Given the description of an element on the screen output the (x, y) to click on. 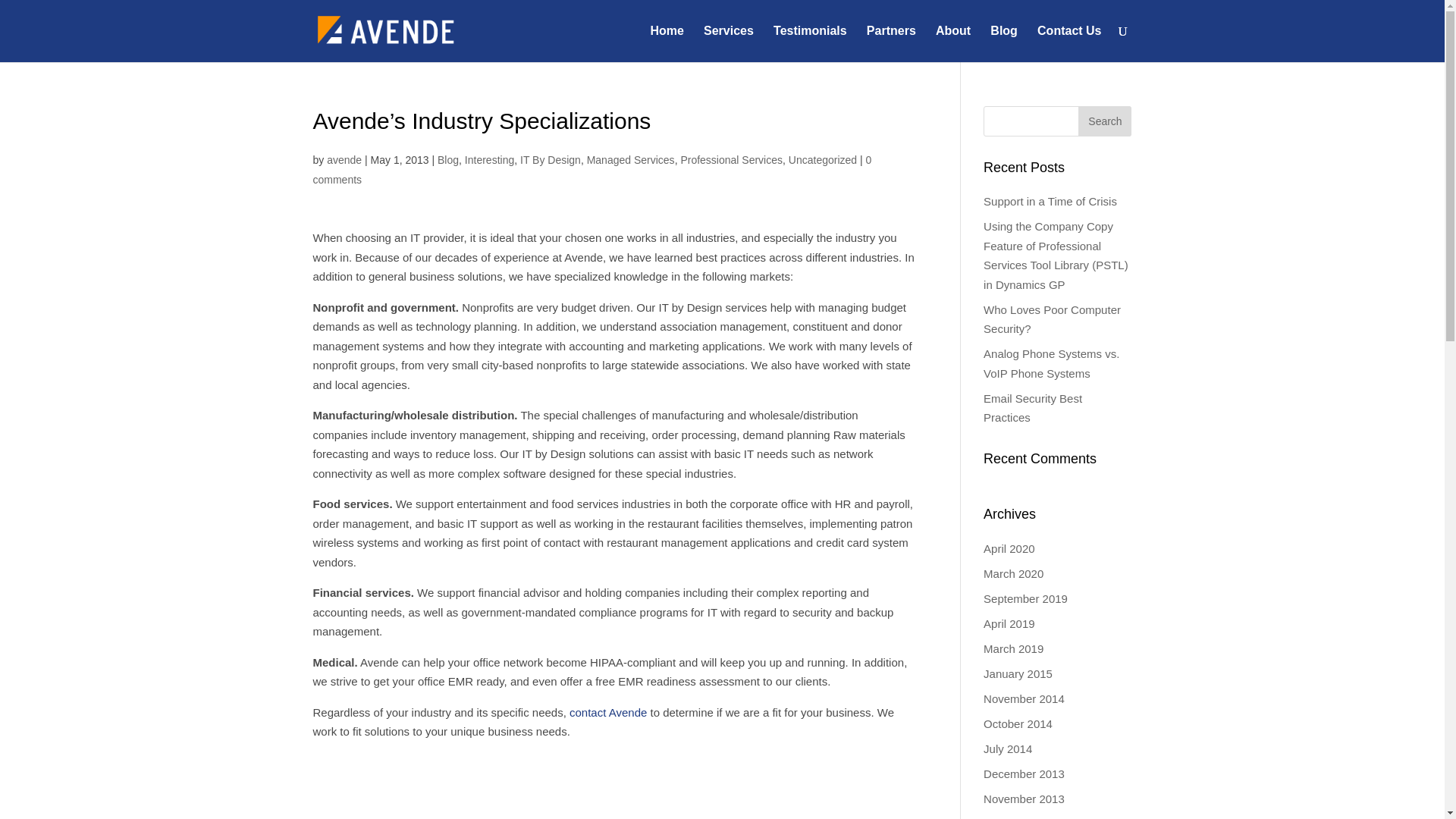
Blog (448, 159)
contact Avende (607, 711)
September 2019 (1025, 598)
Professional Services (731, 159)
Interesting (488, 159)
July 2014 (1008, 748)
About (953, 43)
Contact Us (1068, 43)
January 2015 (1018, 673)
0 comments (591, 169)
Search (1104, 121)
IT By Design (549, 159)
Search (1104, 121)
Analog Phone Systems vs. VoIP Phone Systems (1051, 363)
November 2014 (1024, 698)
